Given the description of an element on the screen output the (x, y) to click on. 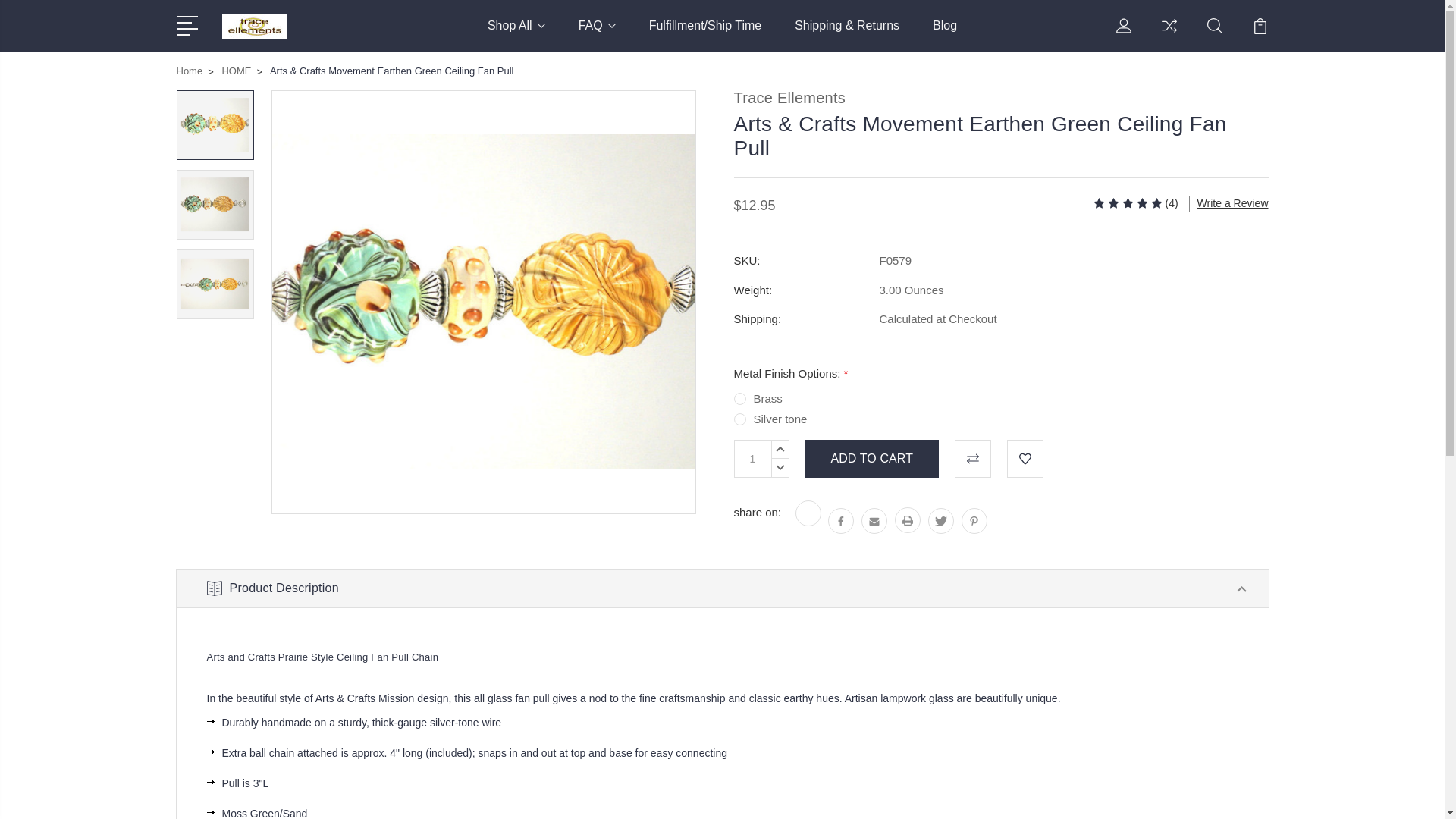
Shop All (515, 34)
1 (752, 458)
Earthen moss green glass ceiling fan pull (214, 124)
Trace Ellements (253, 26)
FAQ (596, 34)
Add to Cart (872, 458)
